Given the description of an element on the screen output the (x, y) to click on. 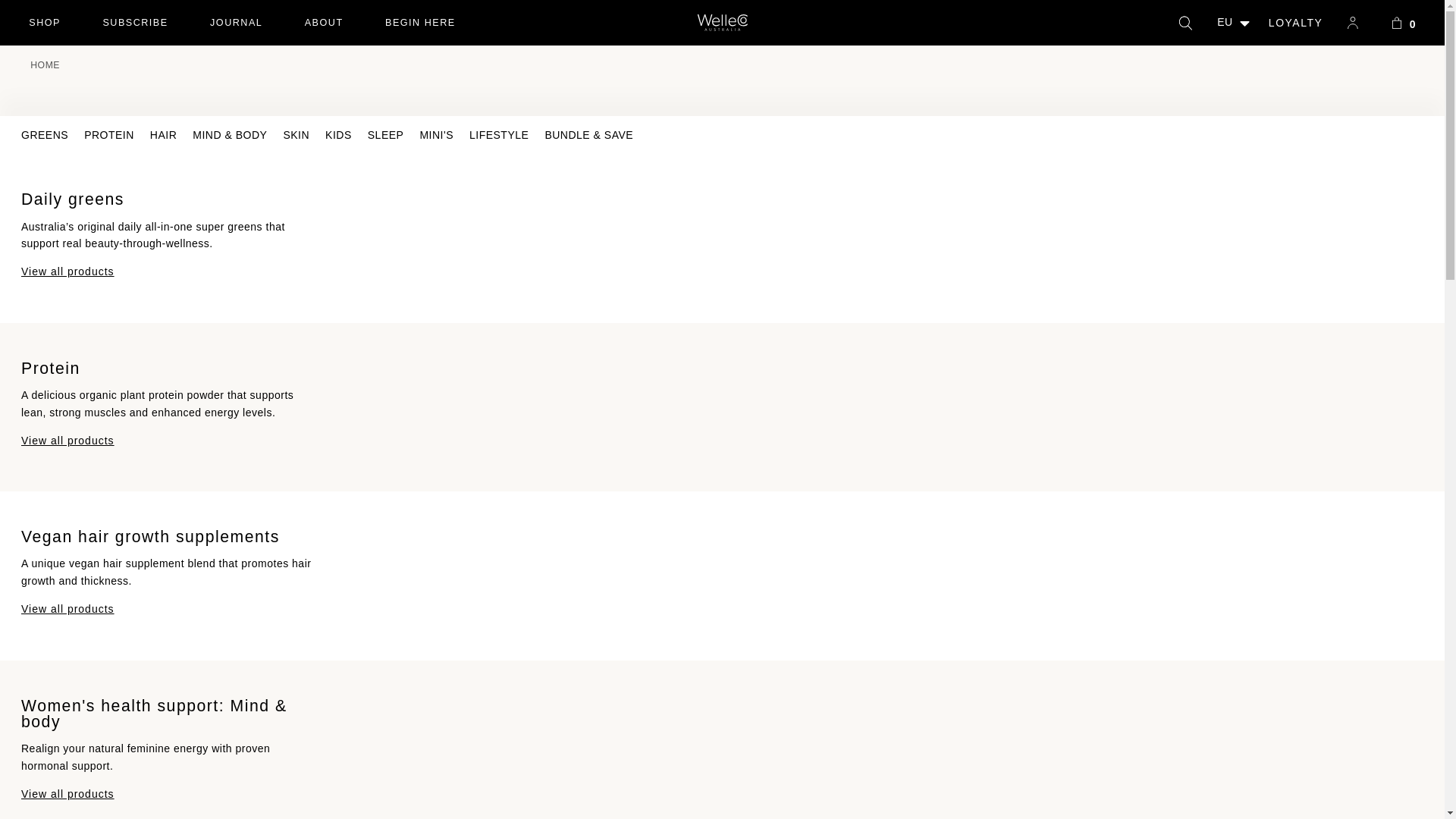
WelleCo EU (722, 22)
HOME (44, 63)
BEGIN HERE (419, 22)
LOYALTY (1402, 22)
EU (323, 22)
SUBSCRIBE (44, 22)
